Given the description of an element on the screen output the (x, y) to click on. 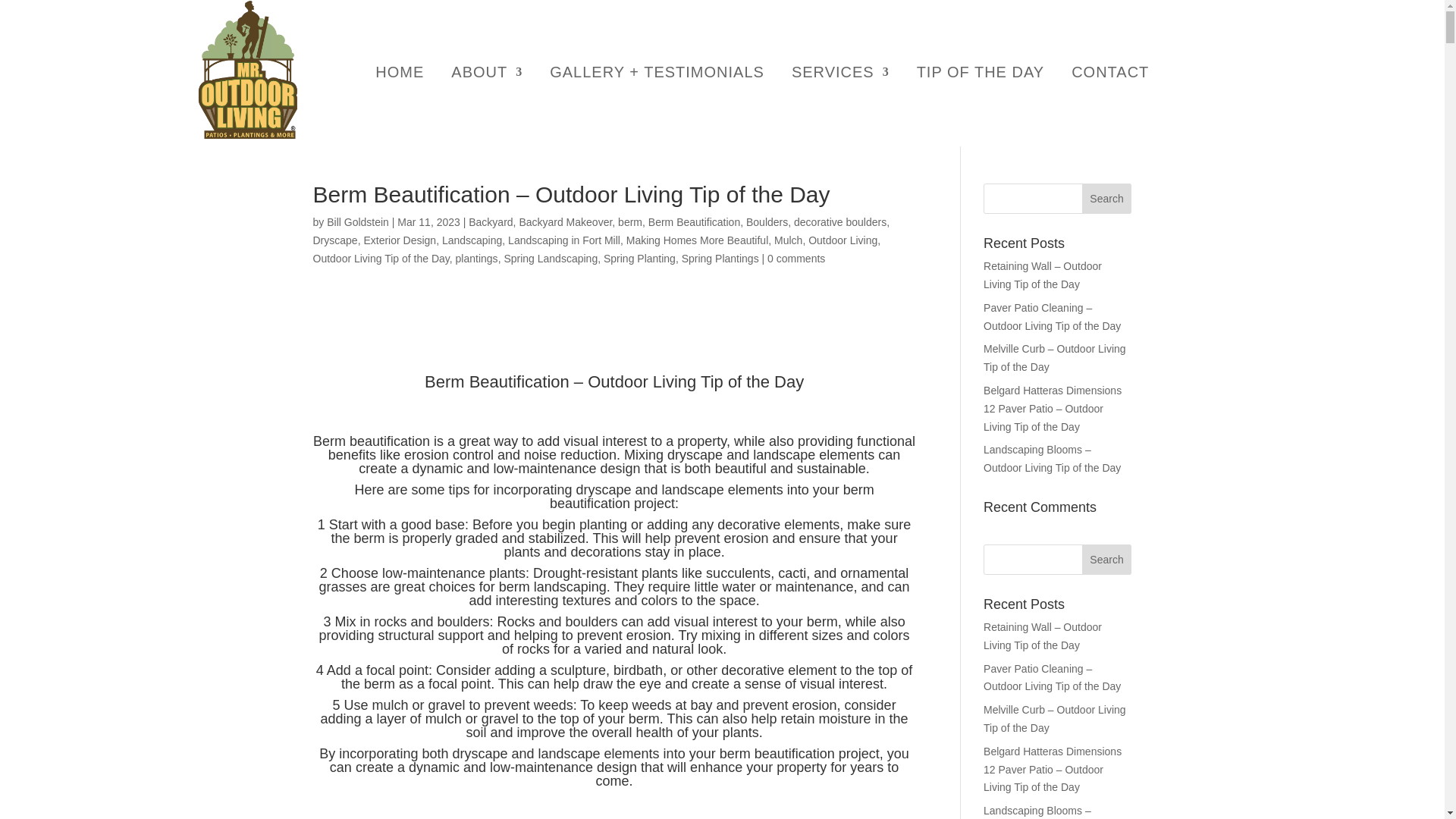
Berm Beautification (693, 222)
Landscaping (472, 240)
decorative boulders (839, 222)
Posts by Bill Goldstein (357, 222)
Bill Goldstein (357, 222)
berm (629, 222)
Mulch (788, 240)
Dryscape (334, 240)
Exterior Design (398, 240)
Backyard Makeover (564, 222)
Boulders (766, 222)
Making Homes More Beautiful (697, 240)
Search (1106, 559)
Landscaping in Fort Mill (564, 240)
Outdoor Living (842, 240)
